Given the description of an element on the screen output the (x, y) to click on. 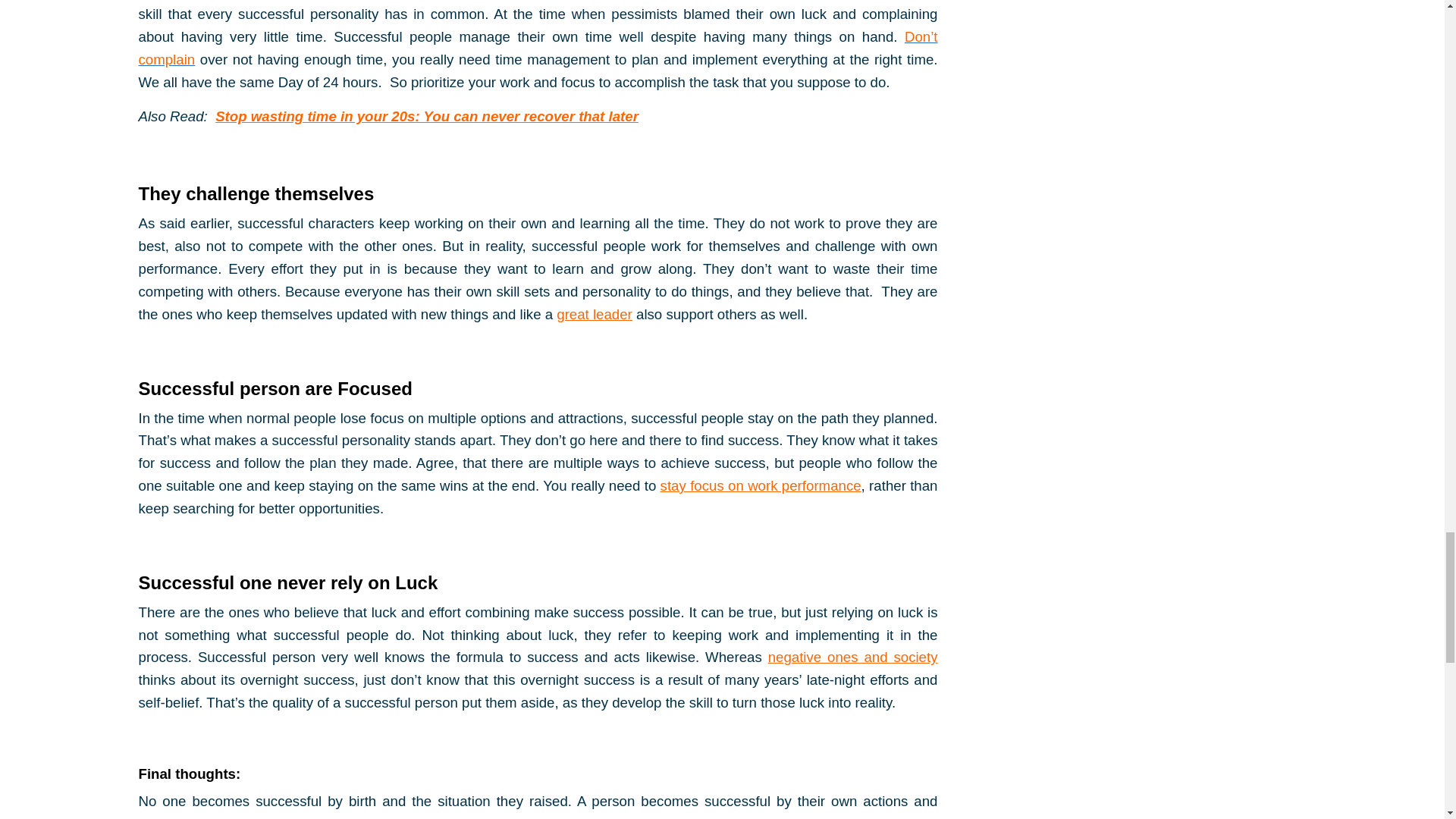
stay focus on work performance (761, 485)
great leader (593, 314)
negative ones and society (852, 657)
